Given the description of an element on the screen output the (x, y) to click on. 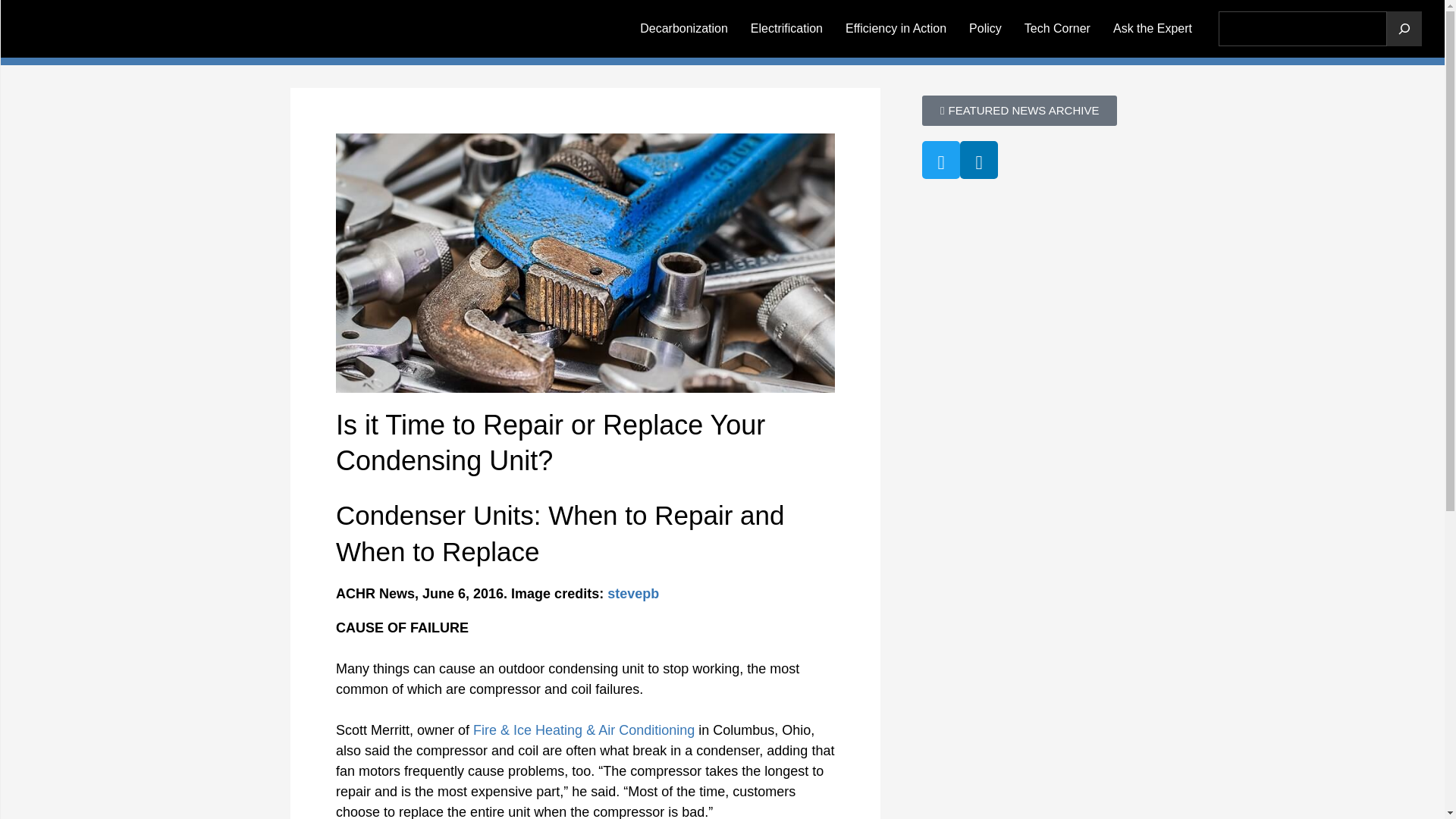
Ask the Expert (1153, 28)
stevepb (633, 593)
Electrification (786, 28)
Decarbonization (683, 28)
Efficiency in Action (896, 28)
Policy (985, 28)
FEATURED NEWS ARCHIVE (1018, 110)
Tech Corner (1057, 28)
